Given the description of an element on the screen output the (x, y) to click on. 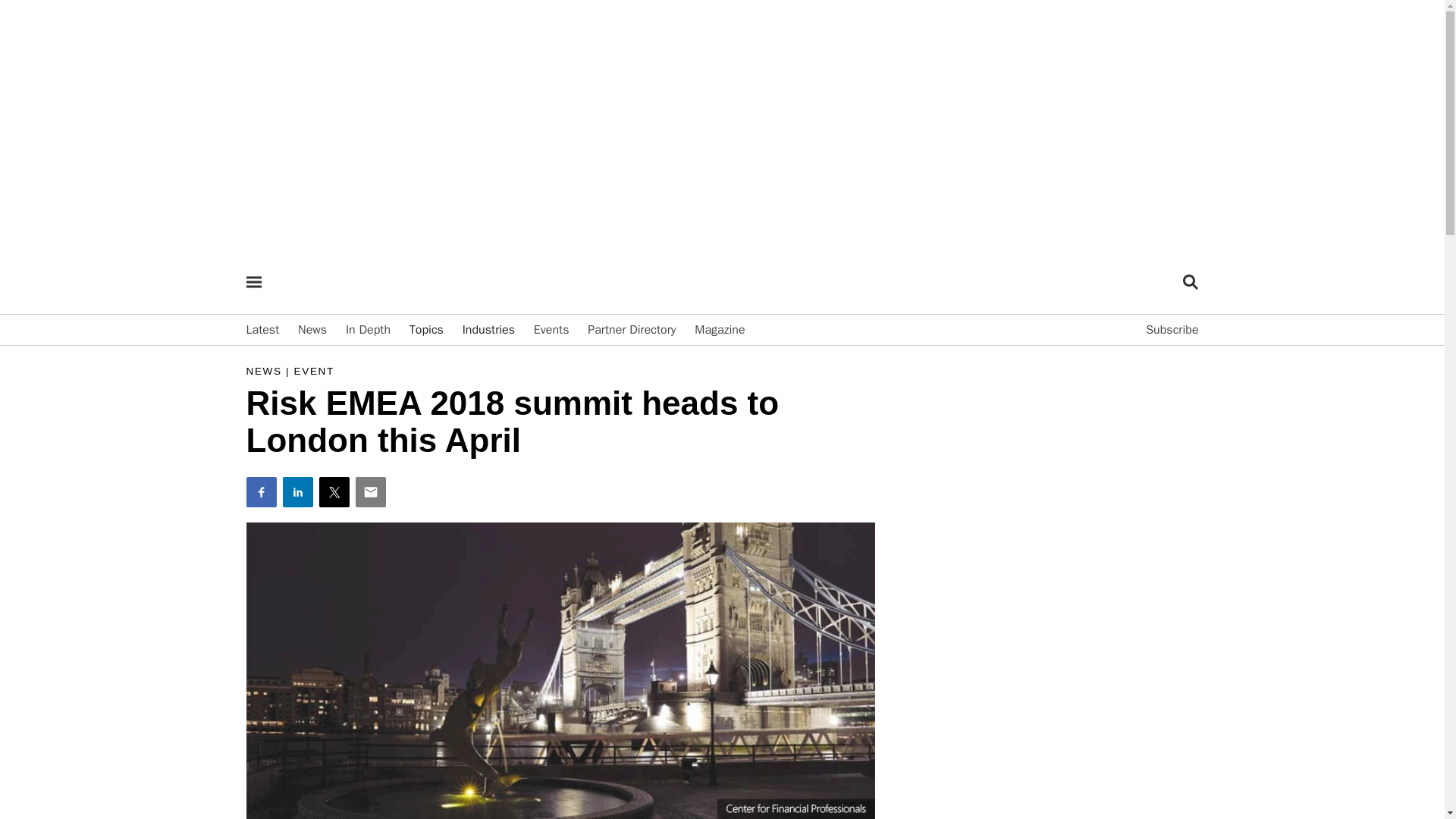
Open side navigation menu (253, 281)
Latest (262, 329)
Events (551, 329)
In Depth (368, 329)
Subscribe (1171, 329)
News (312, 329)
Open Search Menu (1190, 281)
Magazine (719, 329)
Partner Directory (631, 329)
